Given the description of an element on the screen output the (x, y) to click on. 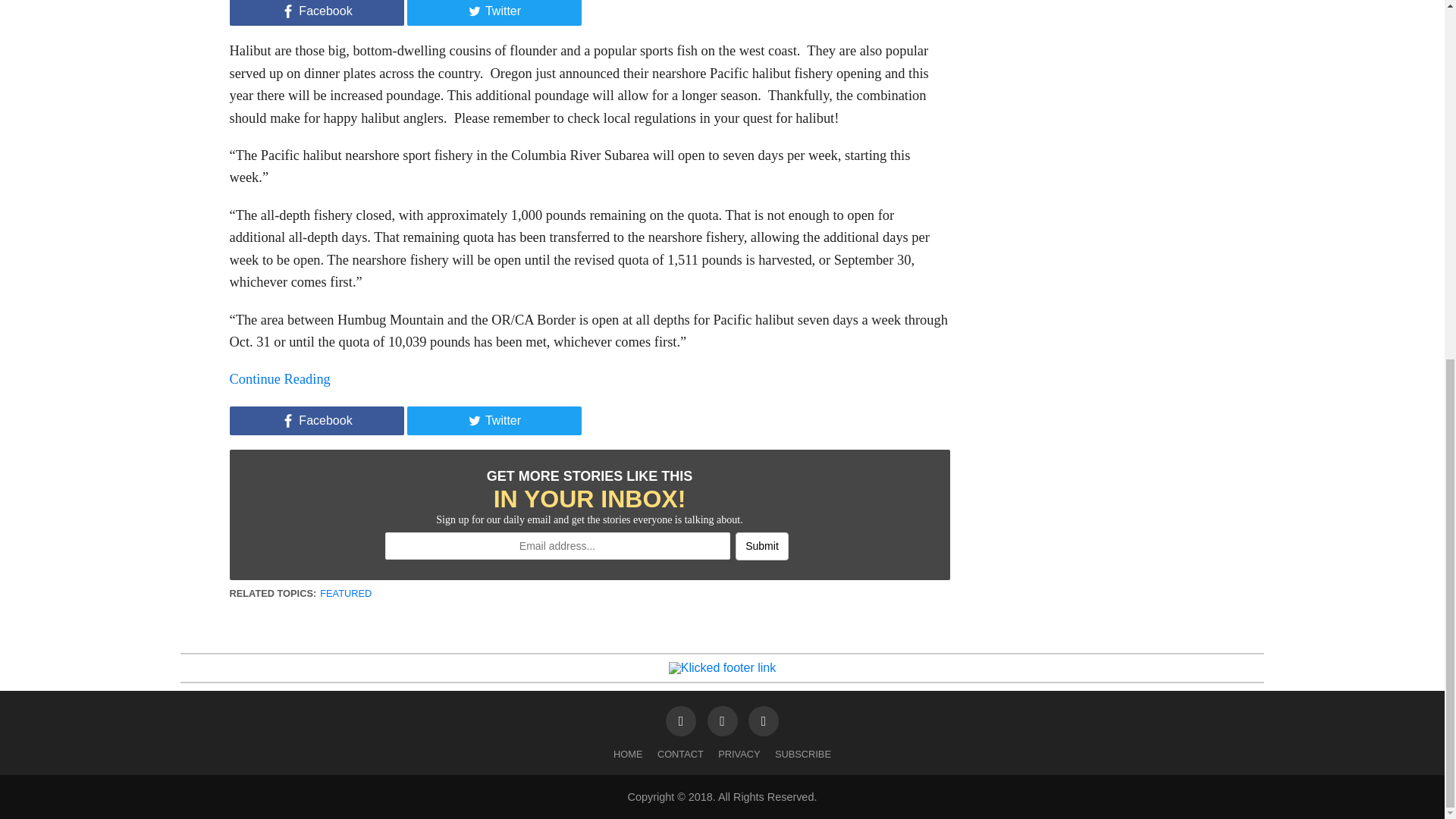
Twitter (493, 420)
Facebook (315, 420)
FEATURED (345, 593)
Twitter (493, 12)
Facebook (315, 12)
Continue Reading (279, 378)
Submit (762, 546)
